Given the description of an element on the screen output the (x, y) to click on. 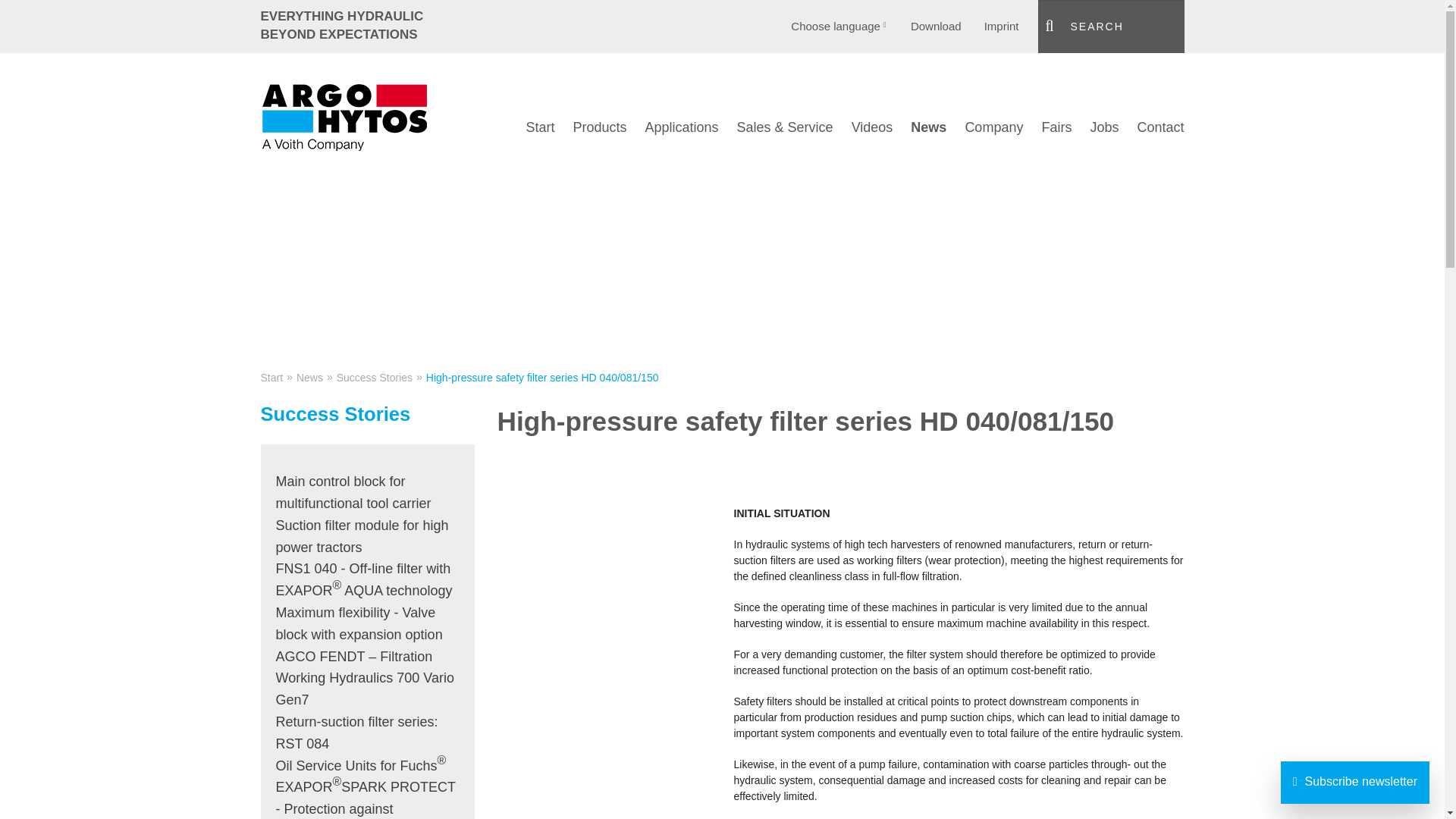
Imprint (1001, 26)
Products (599, 127)
ARGO-HYTOS fluid power solutions (344, 115)
Submit (1052, 25)
Submit (1052, 25)
Download (935, 26)
Submit (1052, 25)
search (1109, 26)
Start (539, 127)
Home (539, 127)
search (1109, 26)
Imprint (1001, 26)
Products (599, 127)
Download (935, 26)
